Given the description of an element on the screen output the (x, y) to click on. 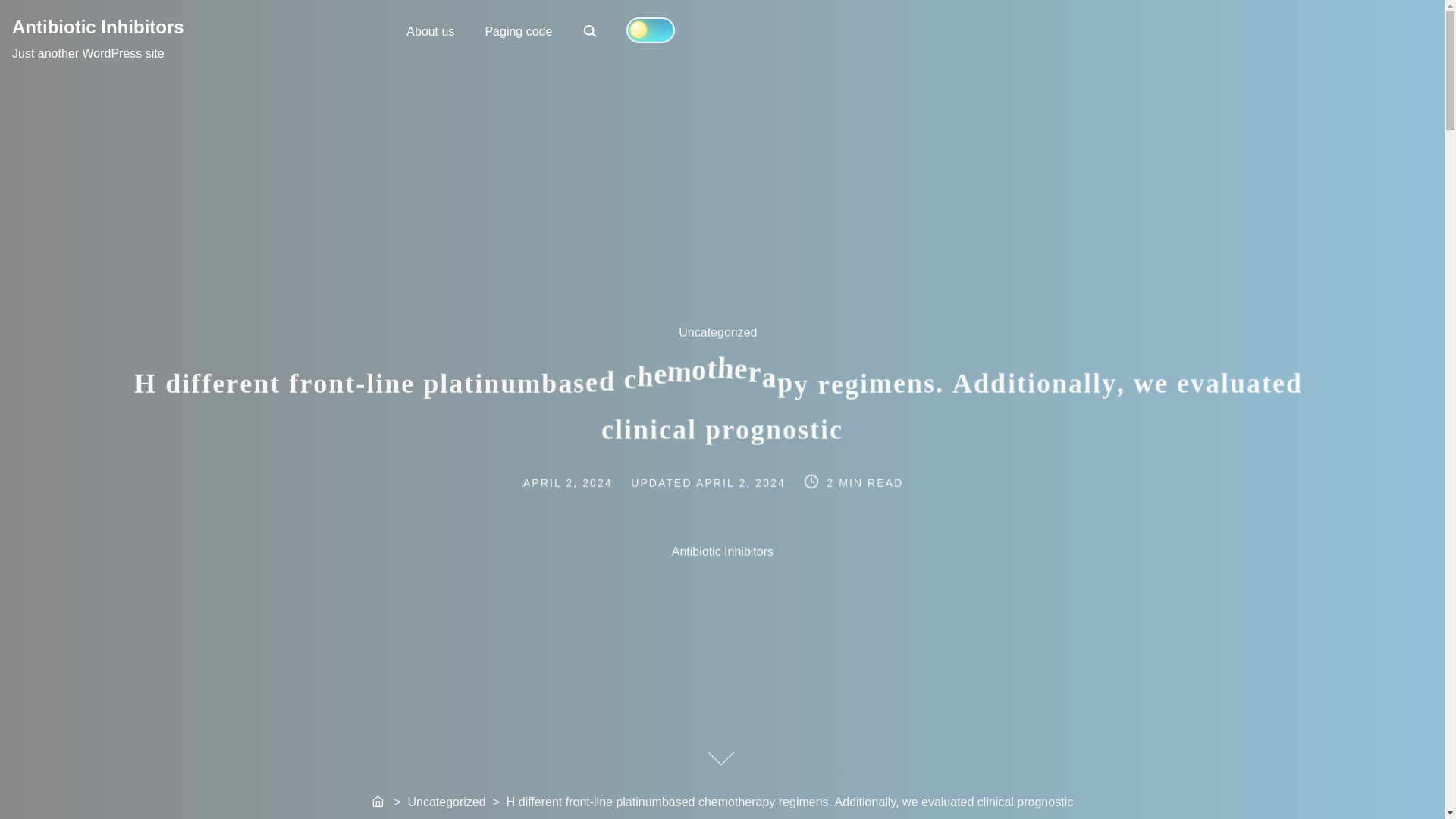
Antibiotic Inhibitors (97, 26)
About us (429, 30)
Paging code (517, 30)
Uncategorized (726, 341)
Search (589, 30)
APRIL 2, 2024 (584, 480)
Home (379, 802)
APRIL 2, 2024 (742, 480)
